Given the description of an element on the screen output the (x, y) to click on. 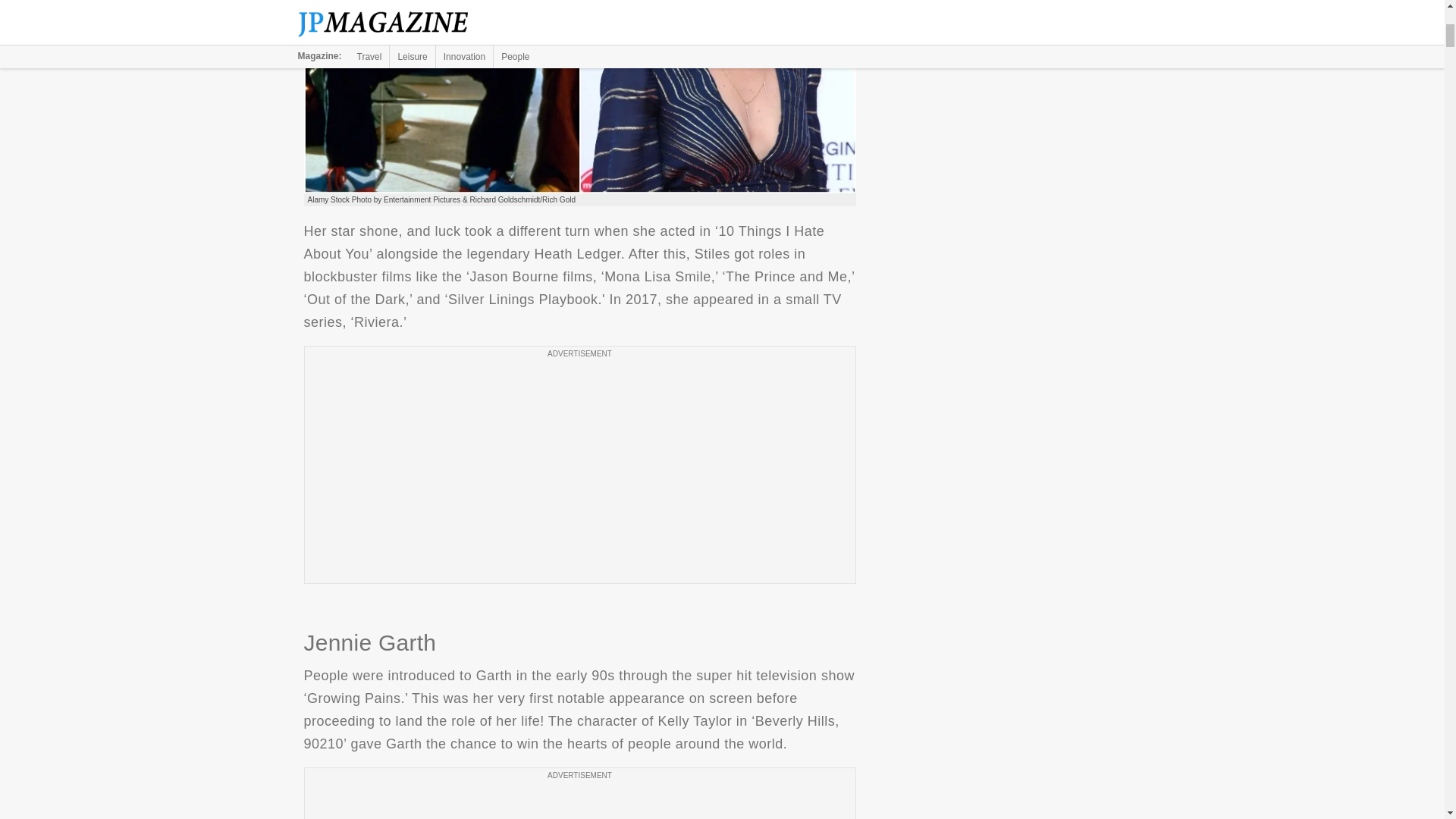
Julia Stiles (579, 96)
